Given the description of an element on the screen output the (x, y) to click on. 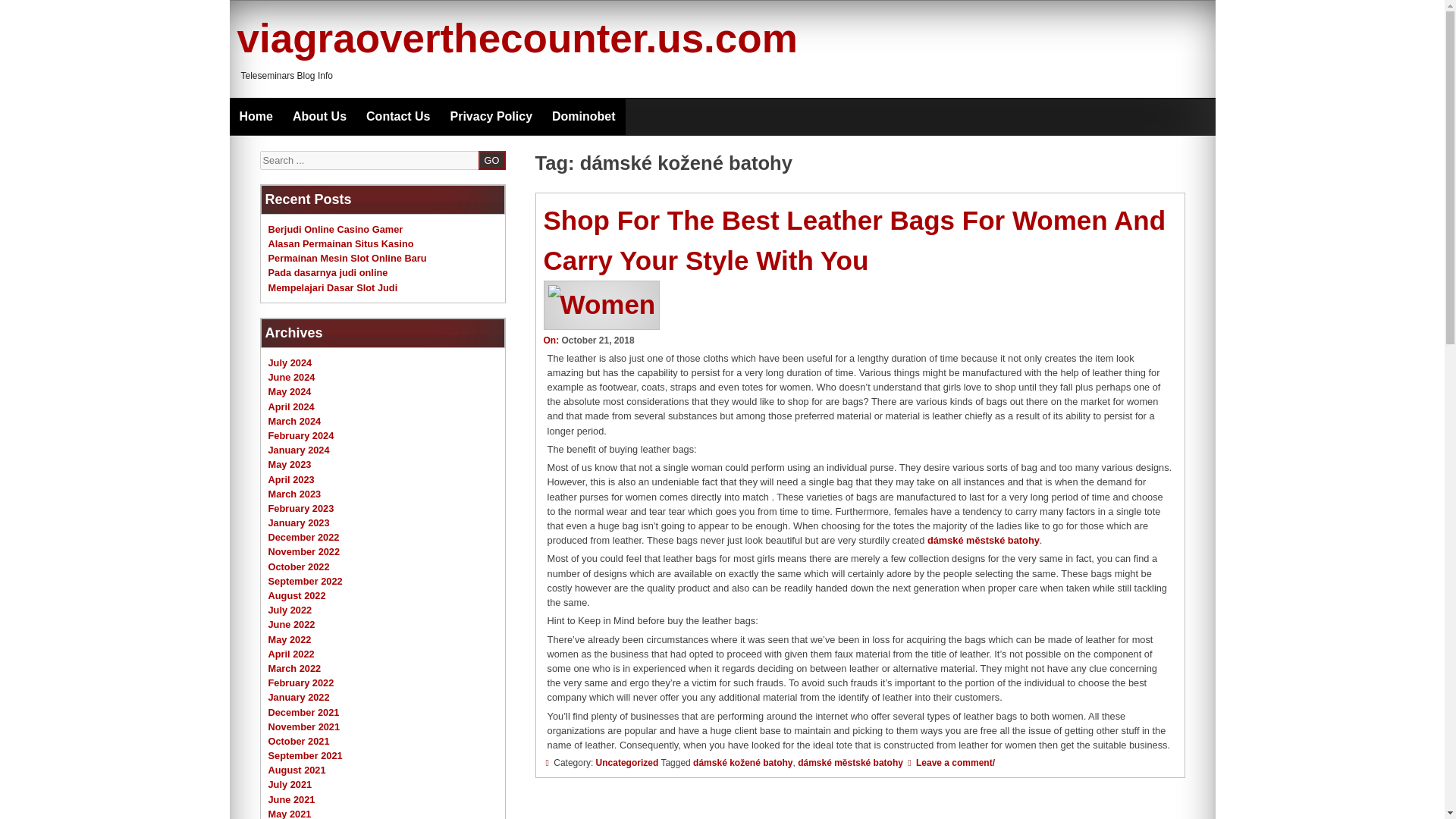
March 2024 (294, 420)
April 2024 (290, 406)
February 2023 (300, 508)
viagraoverthecounter.us.com (515, 37)
May 2024 (289, 391)
May 2023 (289, 464)
GO (492, 158)
September 2022 (304, 581)
Home (255, 116)
Dominobet (583, 116)
January 2024 (298, 449)
Uncategorized (627, 762)
Pada dasarnya judi online (327, 272)
June 2024 (291, 377)
July 2022 (290, 609)
